Given the description of an element on the screen output the (x, y) to click on. 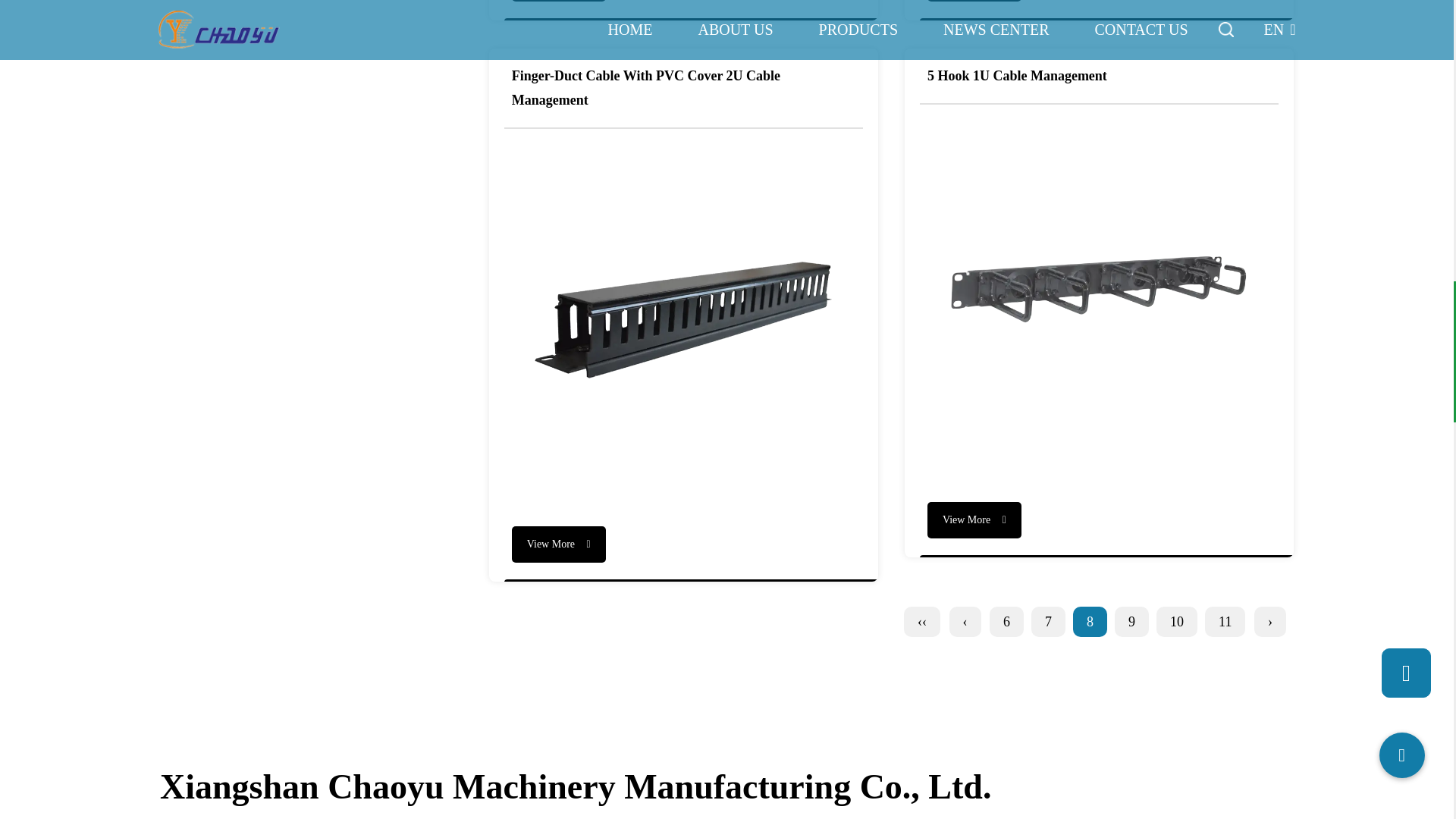
5 Hook 1U Cable Management (1098, 295)
Finger-duct Cable With PVC Cover 2U Cable Management (683, 319)
